Given the description of an element on the screen output the (x, y) to click on. 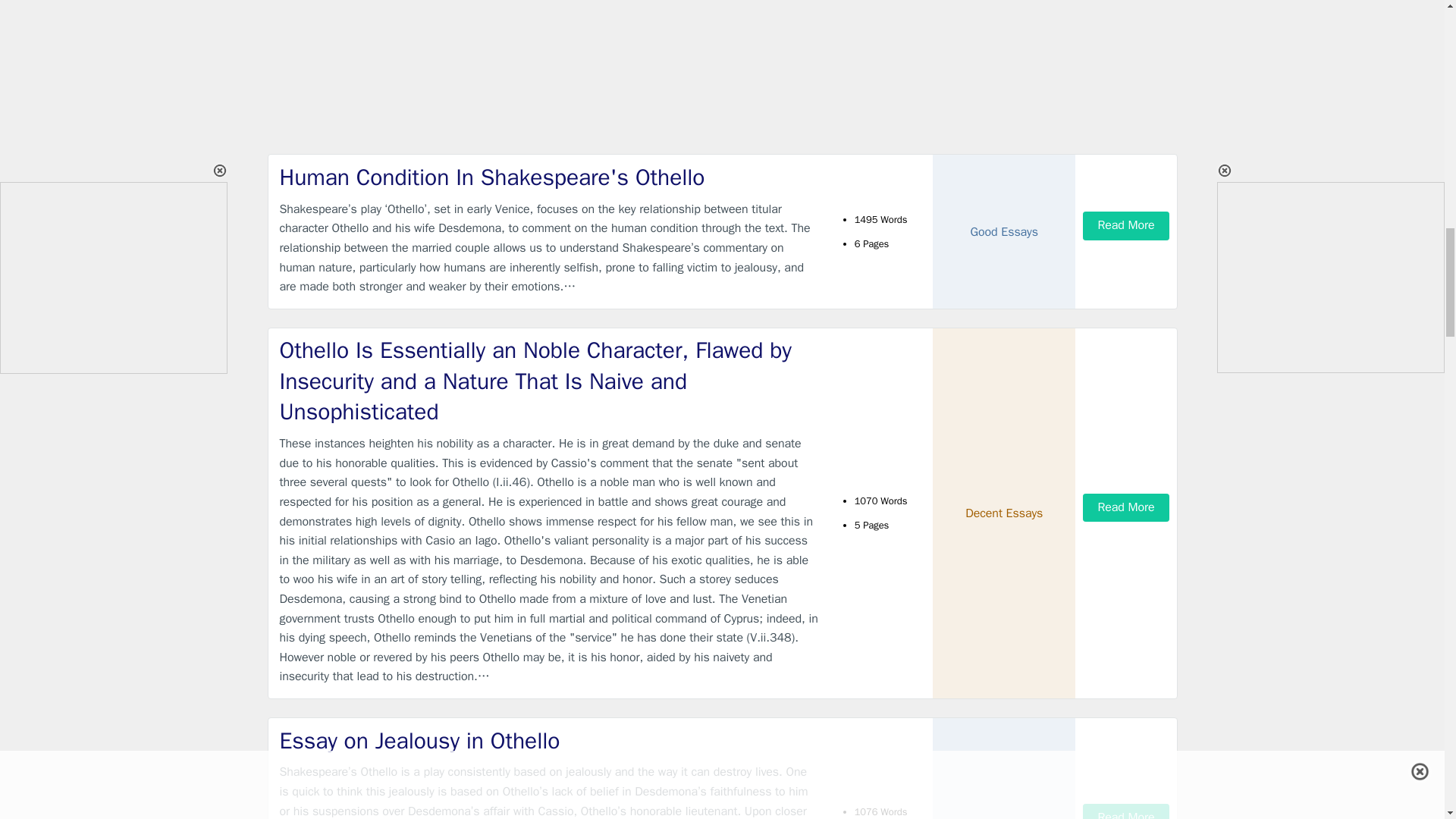
Read More (1126, 225)
Read More (1126, 811)
Read More (1126, 507)
Human Condition In Shakespeare's Othello (548, 177)
Essay on Jealousy in Othello (548, 740)
